Given the description of an element on the screen output the (x, y) to click on. 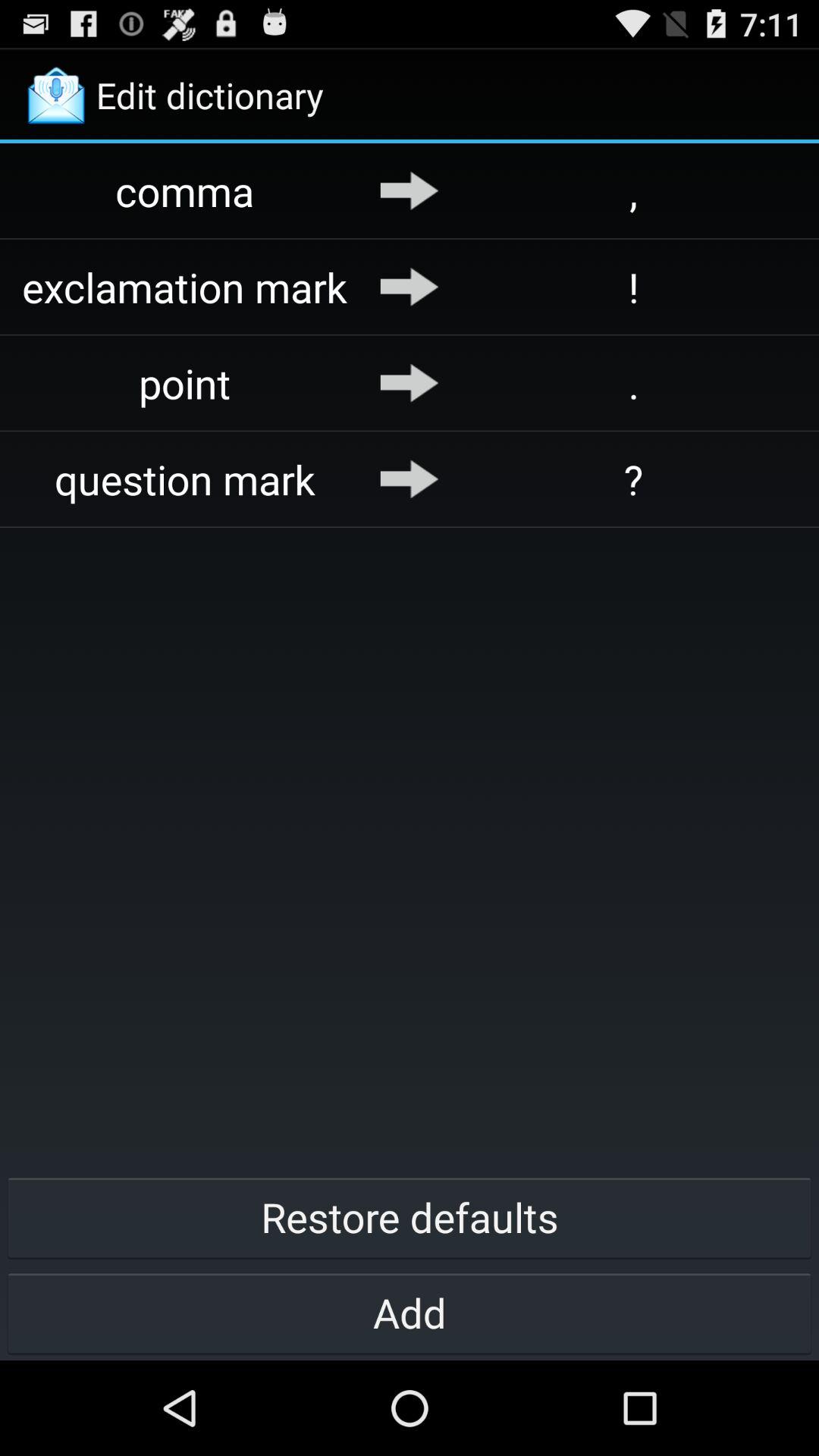
tap the icon below the comma icon (185, 286)
